Given the description of an element on the screen output the (x, y) to click on. 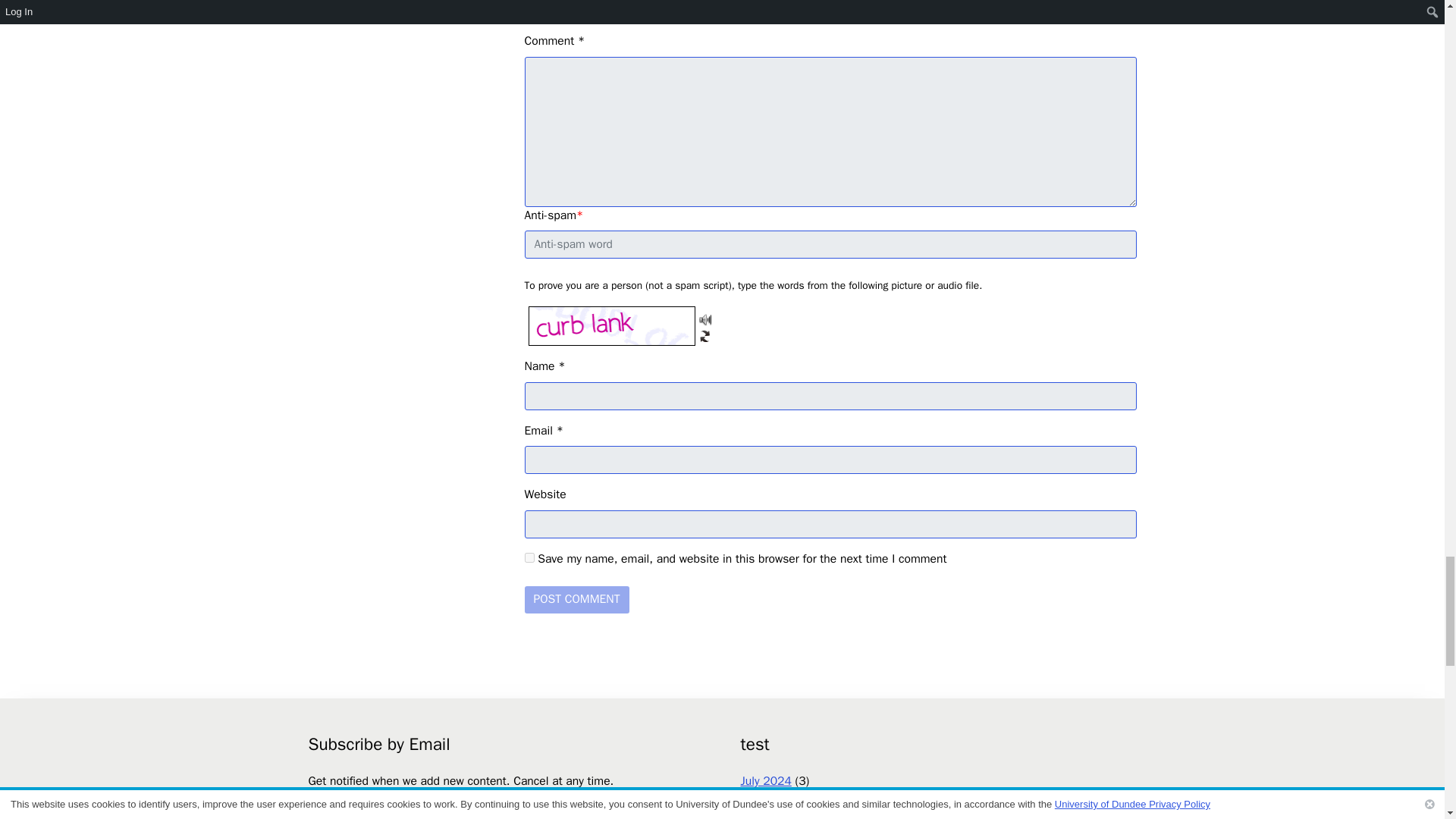
Post Comment (576, 599)
yes (529, 557)
